Given the description of an element on the screen output the (x, y) to click on. 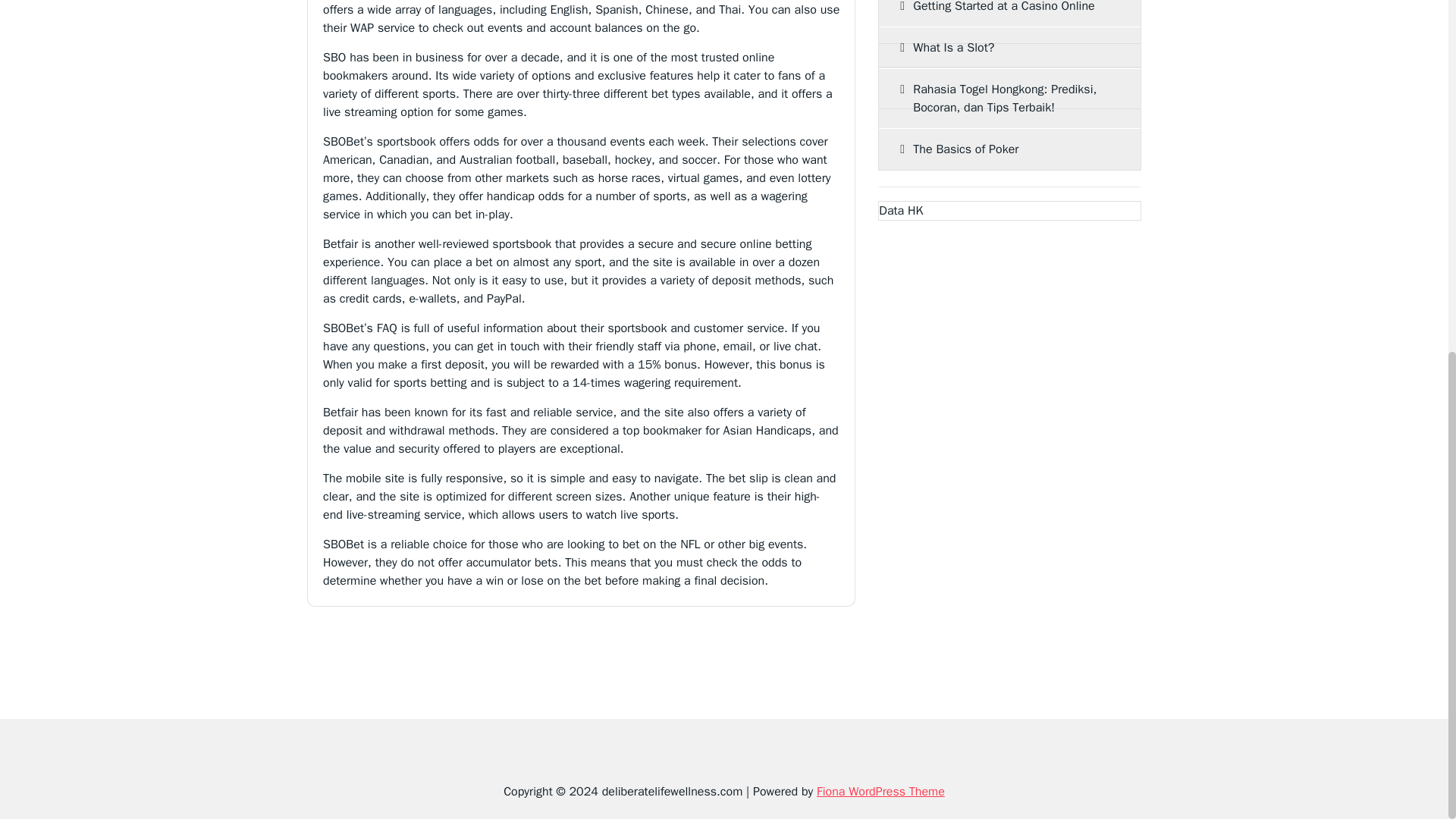
The Basics of Poker (1009, 148)
Getting Started at a Casino Online (1009, 13)
What Is a Slot? (1009, 47)
Fiona WordPress Theme (880, 791)
Data HK (901, 210)
Rahasia Togel Hongkong: Prediksi, Bocoran, dan Tips Terbaik! (1009, 97)
